Given the description of an element on the screen output the (x, y) to click on. 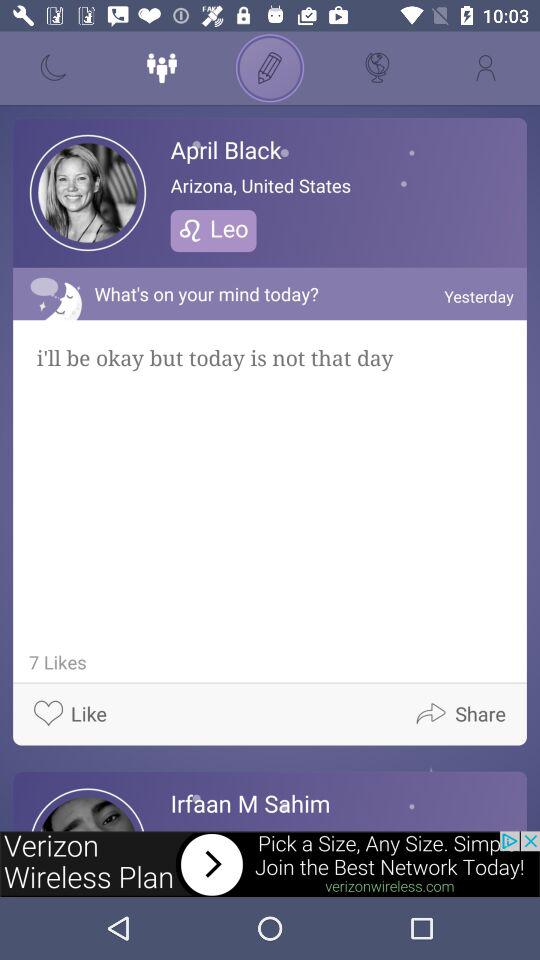
drawimg the profile (269, 68)
